Given the description of an element on the screen output the (x, y) to click on. 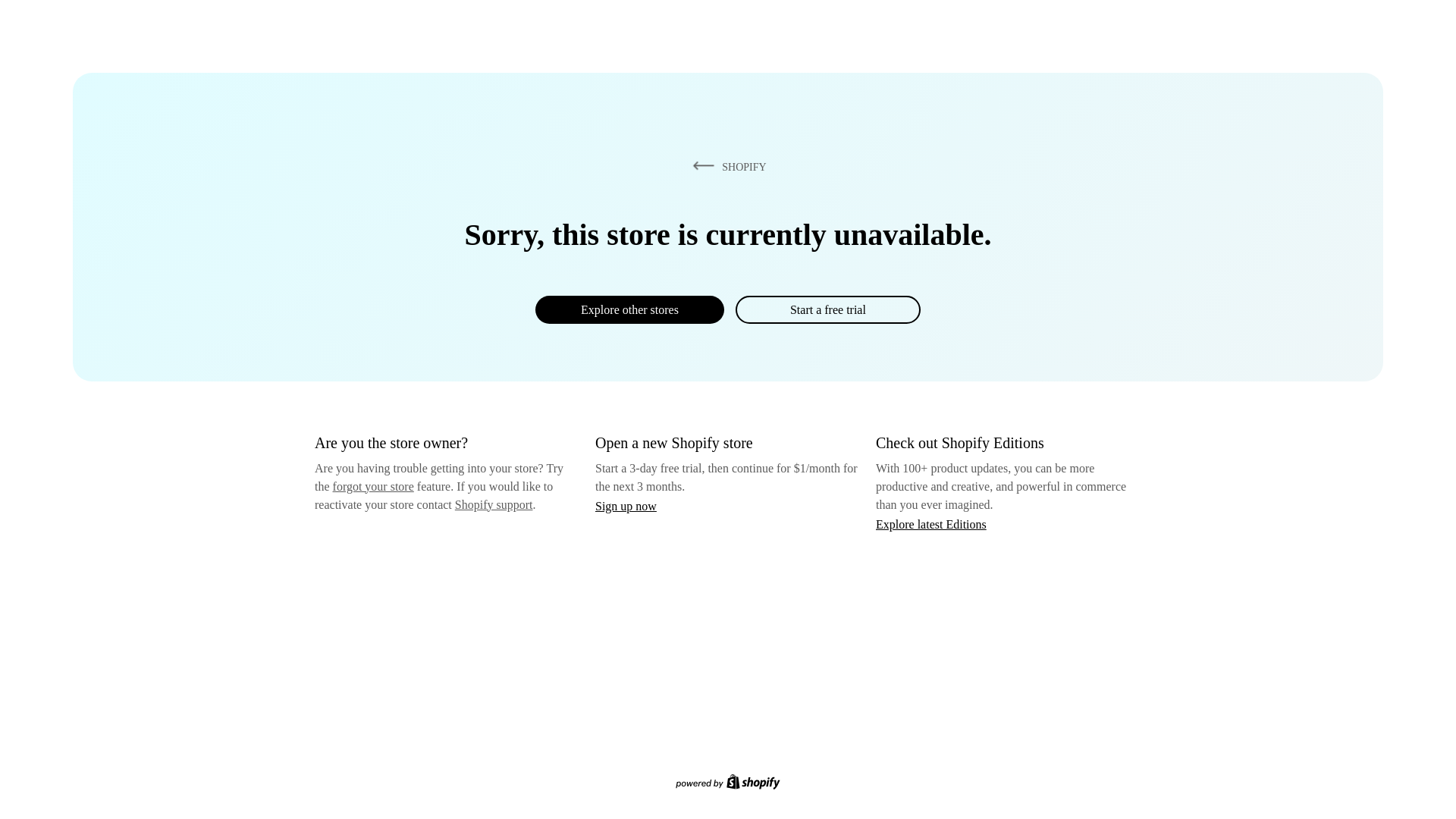
Explore latest Editions (931, 523)
Shopify support (493, 504)
Sign up now (625, 505)
forgot your store (373, 486)
Start a free trial (827, 309)
SHOPIFY (726, 166)
Explore other stores (629, 309)
